Given the description of an element on the screen output the (x, y) to click on. 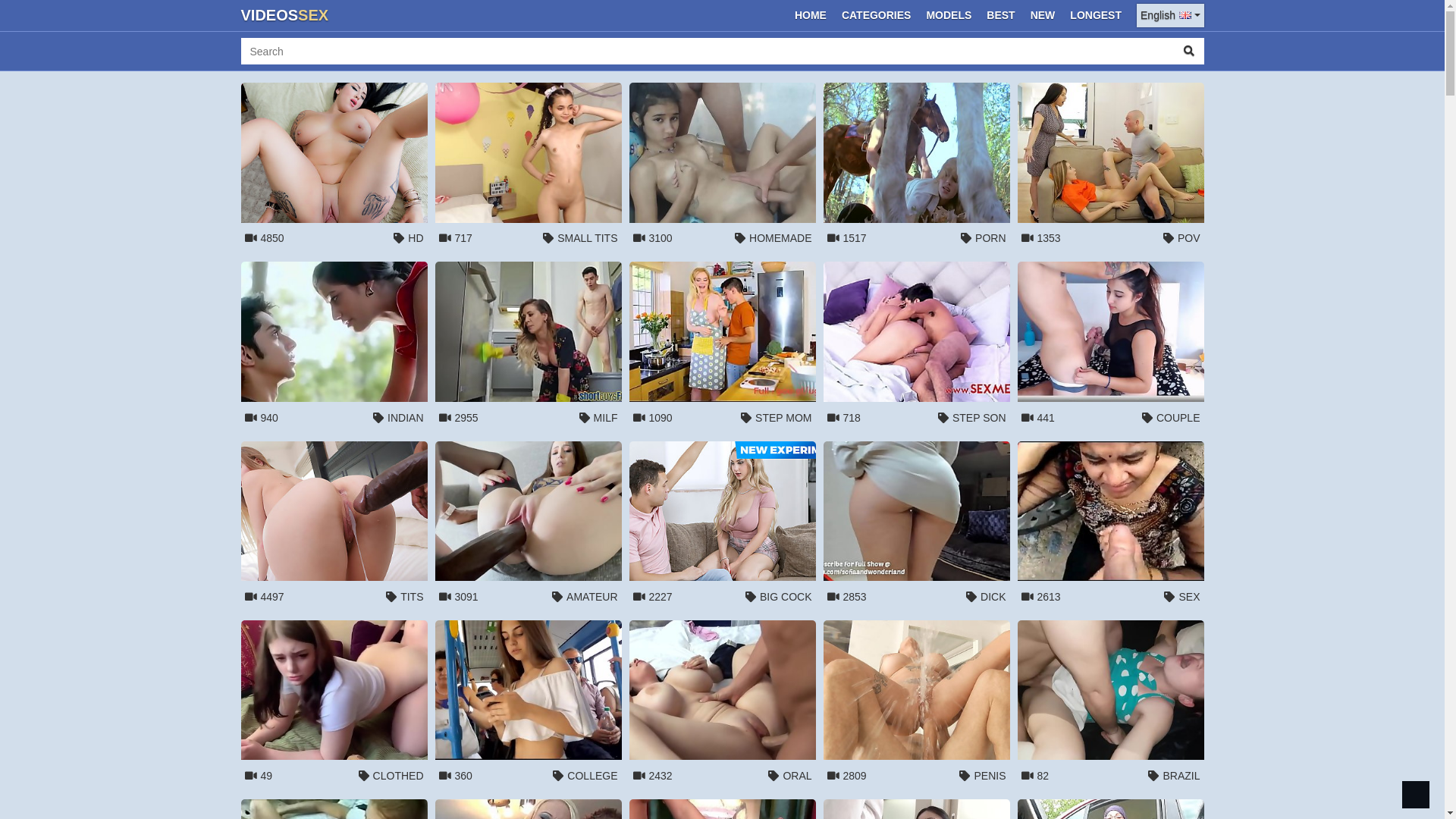
VIDEOSSEX Element type: text (285, 15)
940
INDIAN Element type: text (334, 347)
82
BRAZIL Element type: text (1110, 705)
HOME Element type: text (810, 15)
Search Element type: text (1188, 50)
BEST Element type: text (1000, 15)
2613
SEX Element type: text (1110, 526)
4497
TITS Element type: text (334, 526)
3100
HOMEMADE Element type: text (722, 168)
2955
MILF Element type: text (528, 347)
360
COLLEGE Element type: text (528, 705)
1090
STEP MOM Element type: text (722, 347)
1353
POV Element type: text (1110, 168)
2227
BIG COCK Element type: text (722, 526)
English Element type: text (1169, 15)
2809
PENIS Element type: text (916, 705)
1517
PORN Element type: text (916, 168)
3091
AMATEUR Element type: text (528, 526)
MODELS Element type: text (948, 15)
For searching please use latin letters Element type: hover (707, 50)
CATEGORIES Element type: text (876, 15)
2853
DICK Element type: text (916, 526)
4850
HD Element type: text (334, 168)
718
STEP SON Element type: text (916, 347)
49
CLOTHED Element type: text (334, 705)
2432
ORAL Element type: text (722, 705)
NEW Element type: text (1042, 15)
LONGEST Element type: text (1095, 15)
441
COUPLE Element type: text (1110, 347)
717
SMALL TITS Element type: text (528, 168)
